Given the description of an element on the screen output the (x, y) to click on. 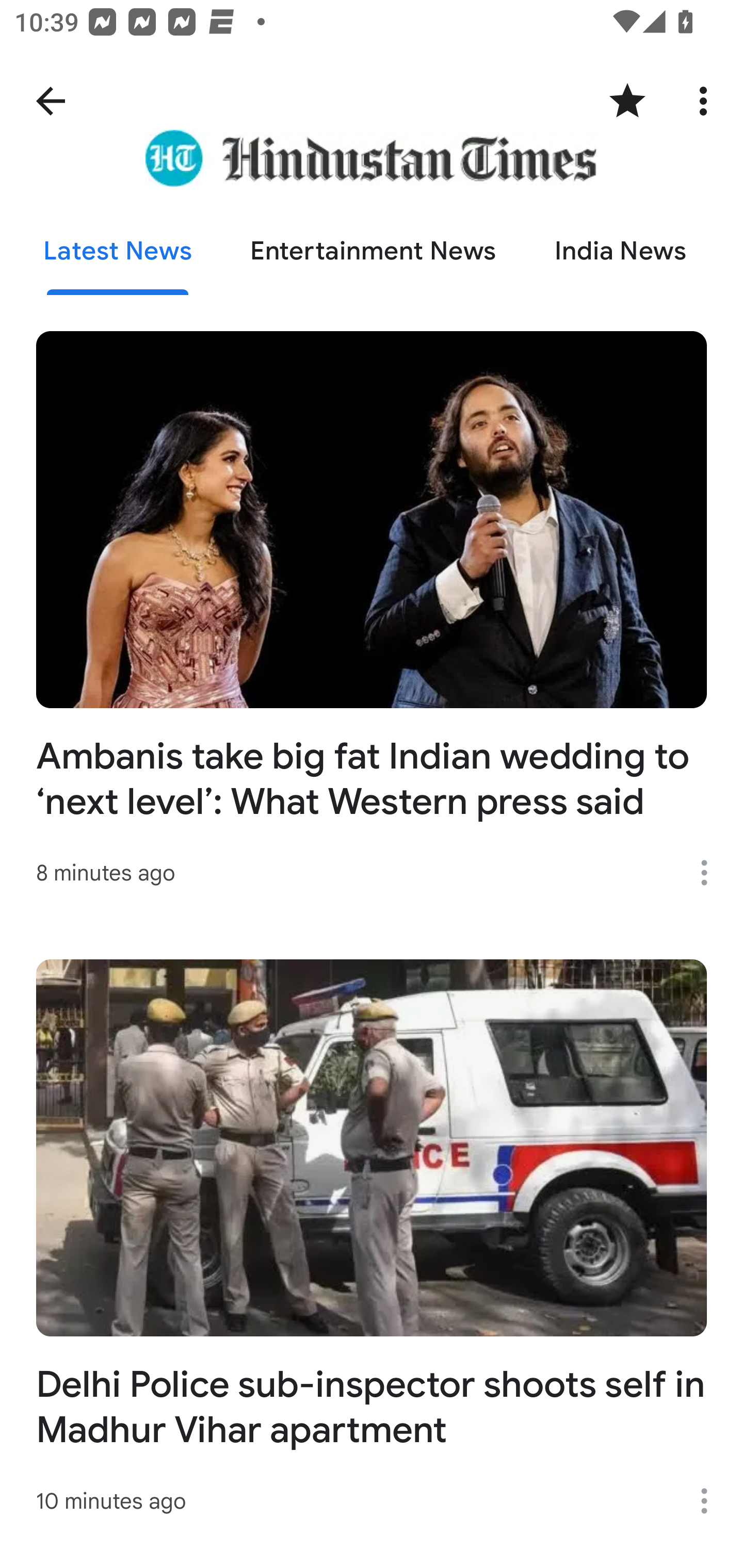
Navigate up (50, 101)
Unfollow (626, 101)
More options (706, 101)
Entertainment News (373, 251)
India News (619, 251)
More options (711, 872)
More options (711, 1501)
